Given the description of an element on the screen output the (x, y) to click on. 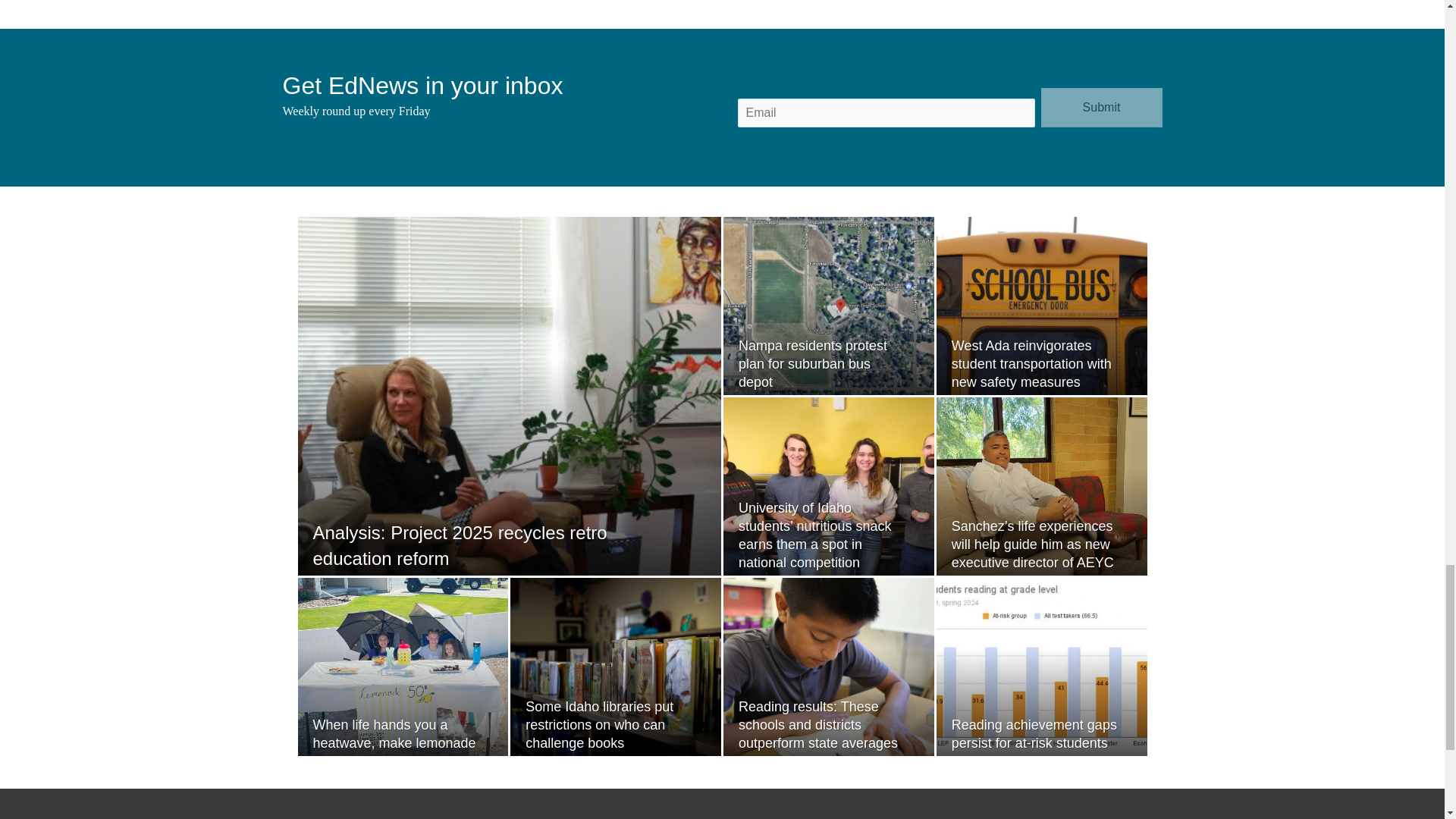
When life hands you a heatwave, make lemonade (394, 734)
Nampa residents protest plan for suburban bus depot (812, 363)
Analysis: Project 2025 recycles retro education reform (460, 545)
